Given the description of an element on the screen output the (x, y) to click on. 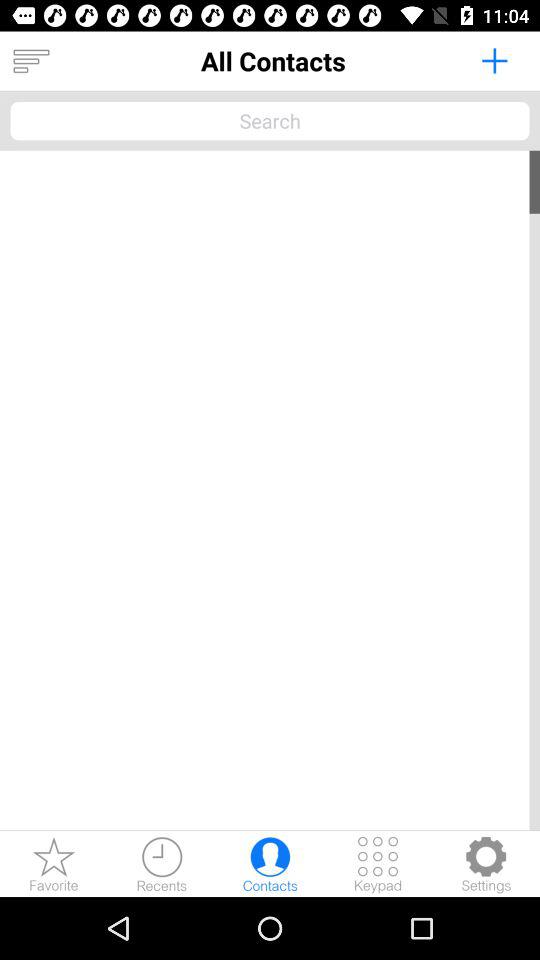
show keypad (377, 864)
